Given the description of an element on the screen output the (x, y) to click on. 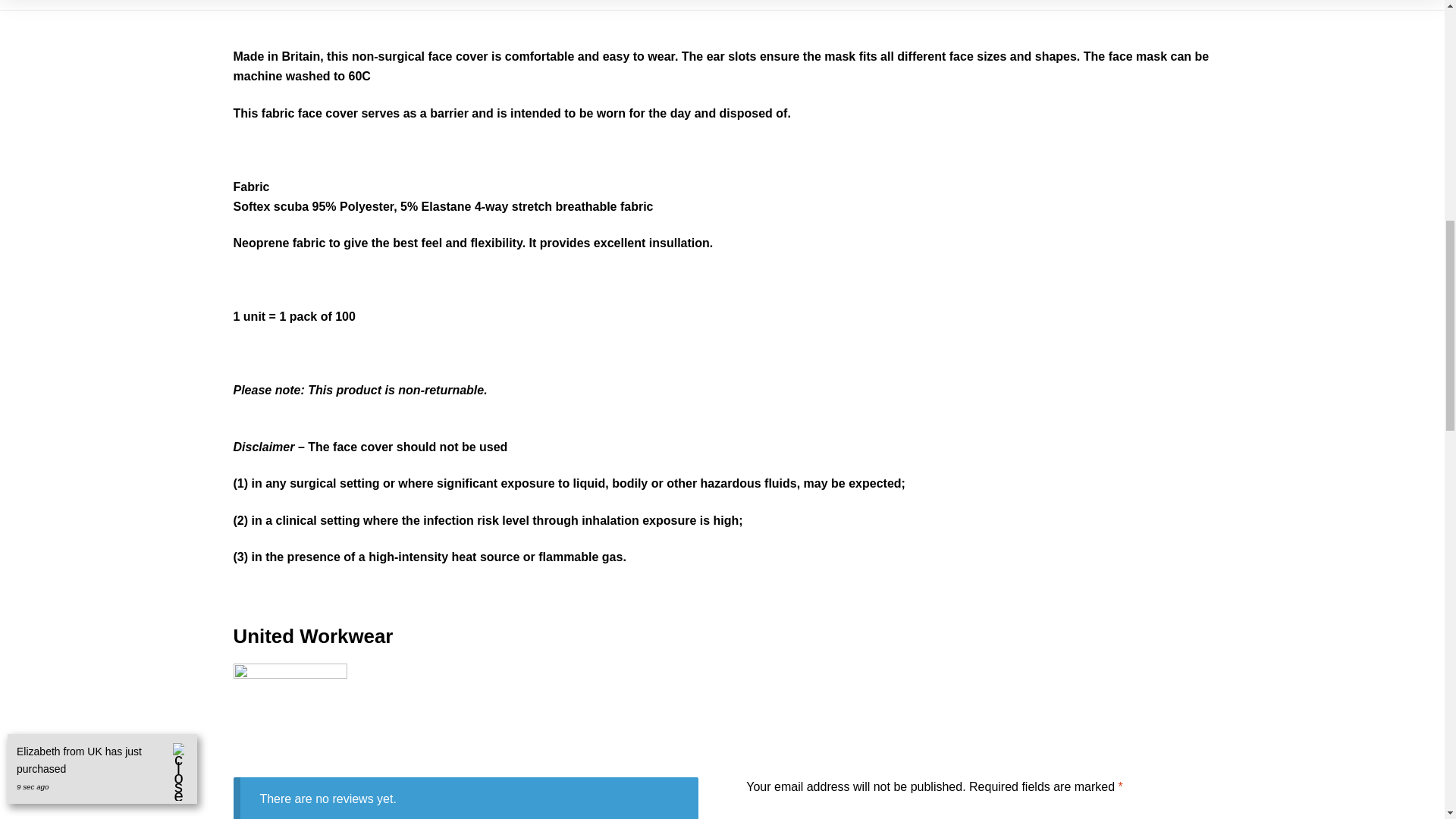
United Workwear (721, 720)
